Given the description of an element on the screen output the (x, y) to click on. 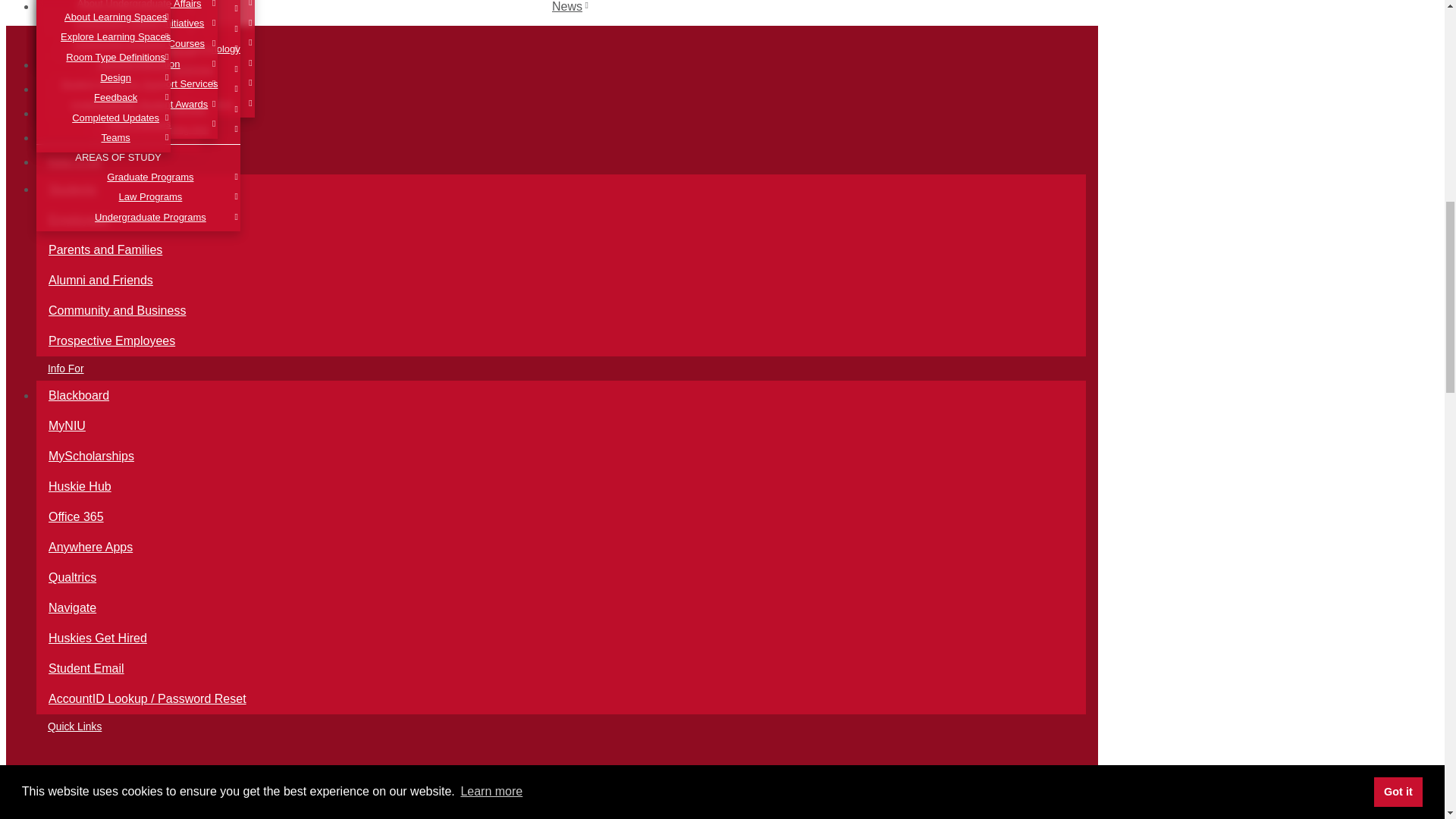
Leadership Team (130, 10)
